Given the description of an element on the screen output the (x, y) to click on. 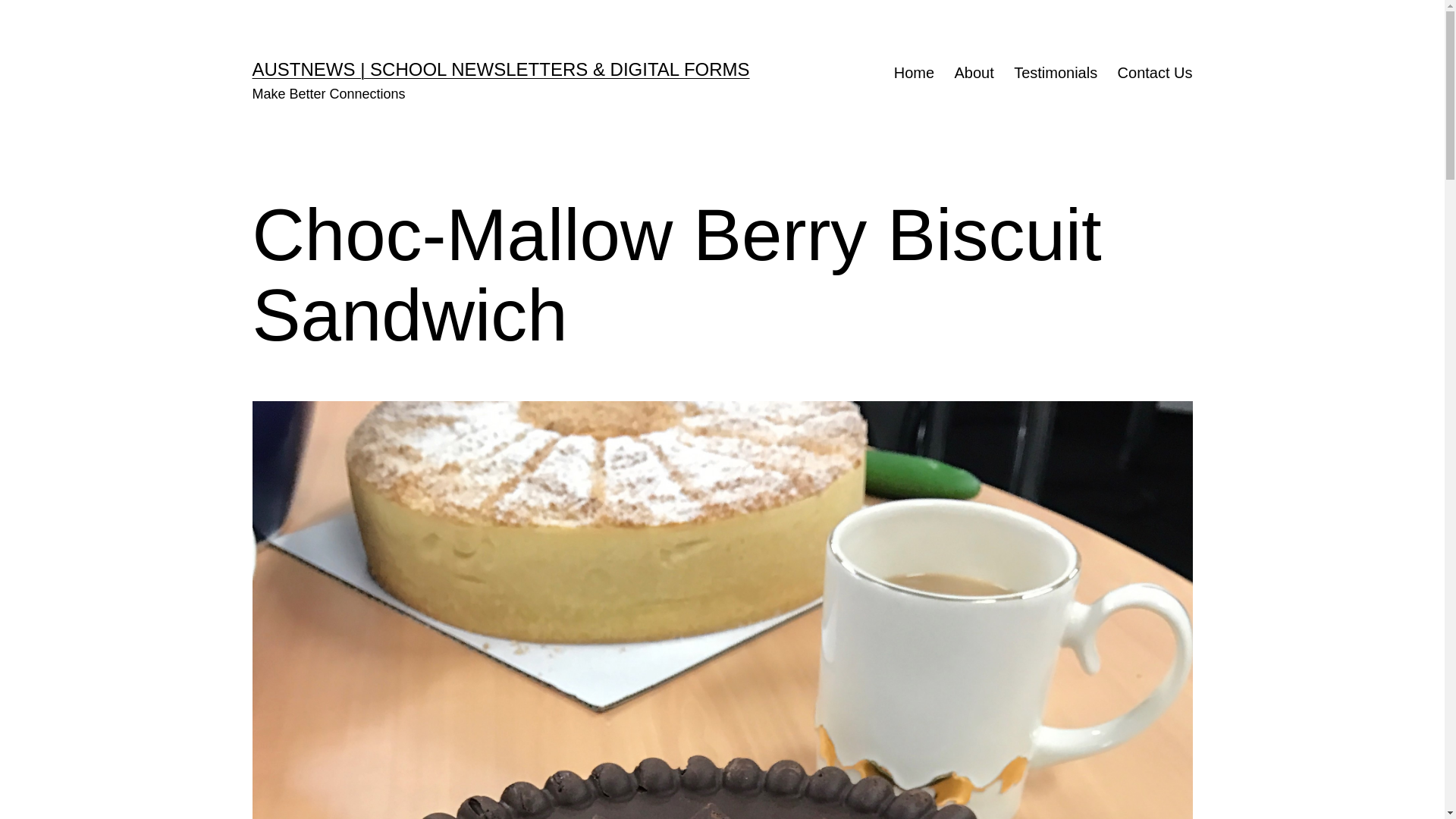
Home Element type: text (914, 72)
About Element type: text (974, 72)
AUSTNEWS | SCHOOL NEWSLETTERS & DIGITAL FORMS Element type: text (500, 69)
Contact Us Element type: text (1154, 72)
Testimonials Element type: text (1055, 72)
